Given the description of an element on the screen output the (x, y) to click on. 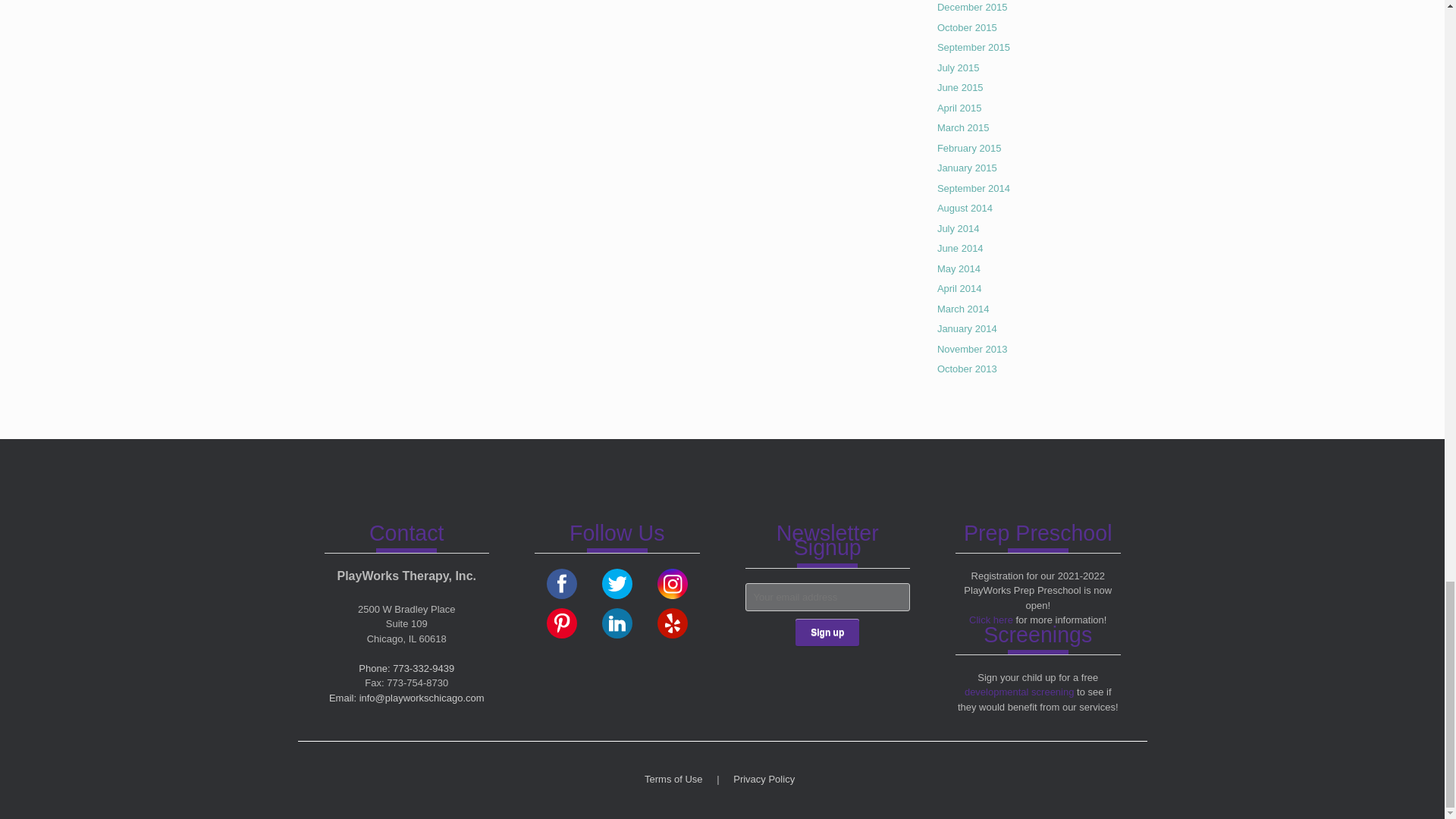
Sign up (826, 632)
